Given the description of an element on the screen output the (x, y) to click on. 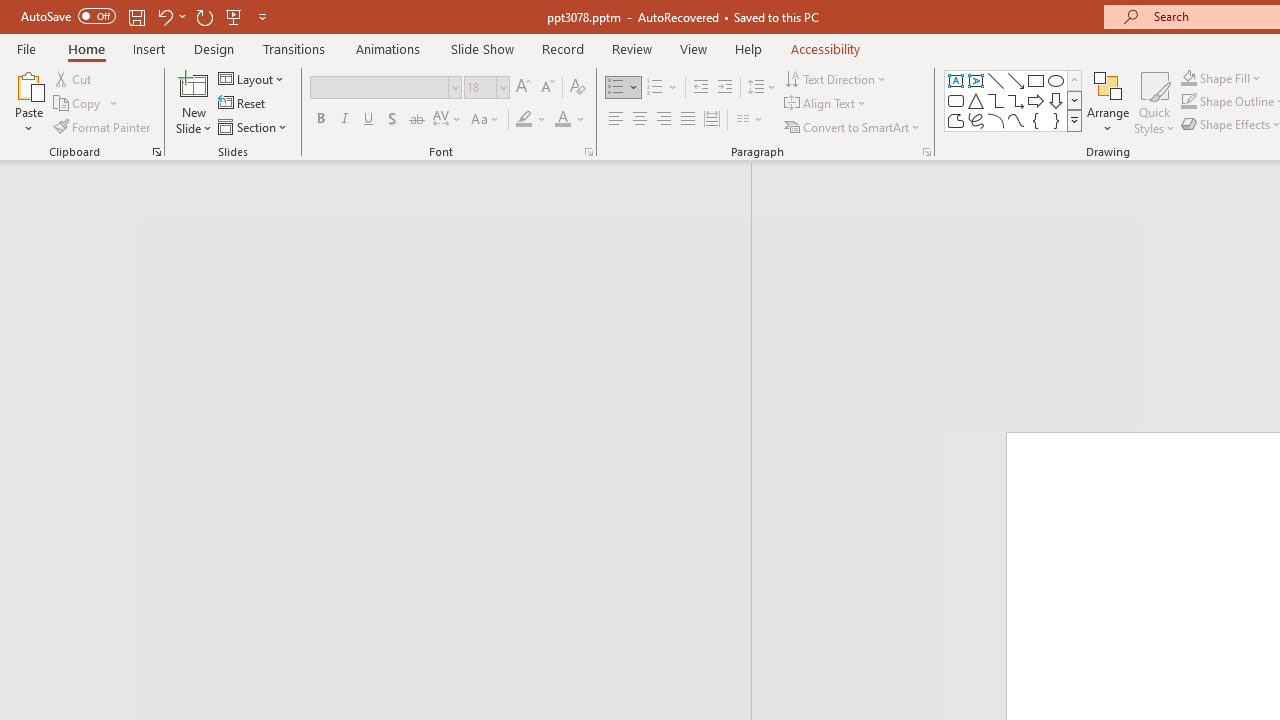
Shape Outline Green, Accent 1 (1188, 101)
